Given the description of an element on the screen output the (x, y) to click on. 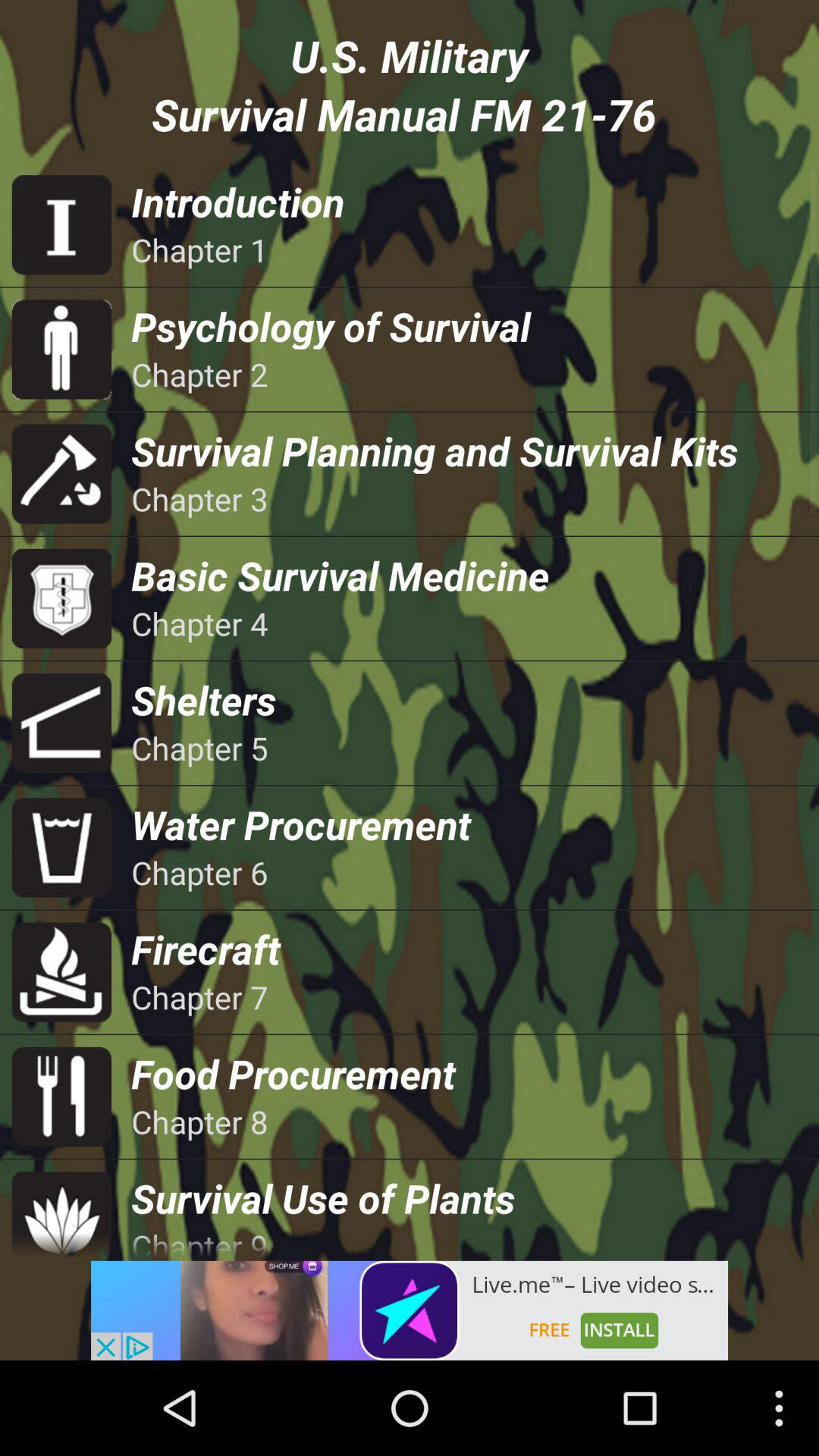
advertisement (409, 1310)
